Given the description of an element on the screen output the (x, y) to click on. 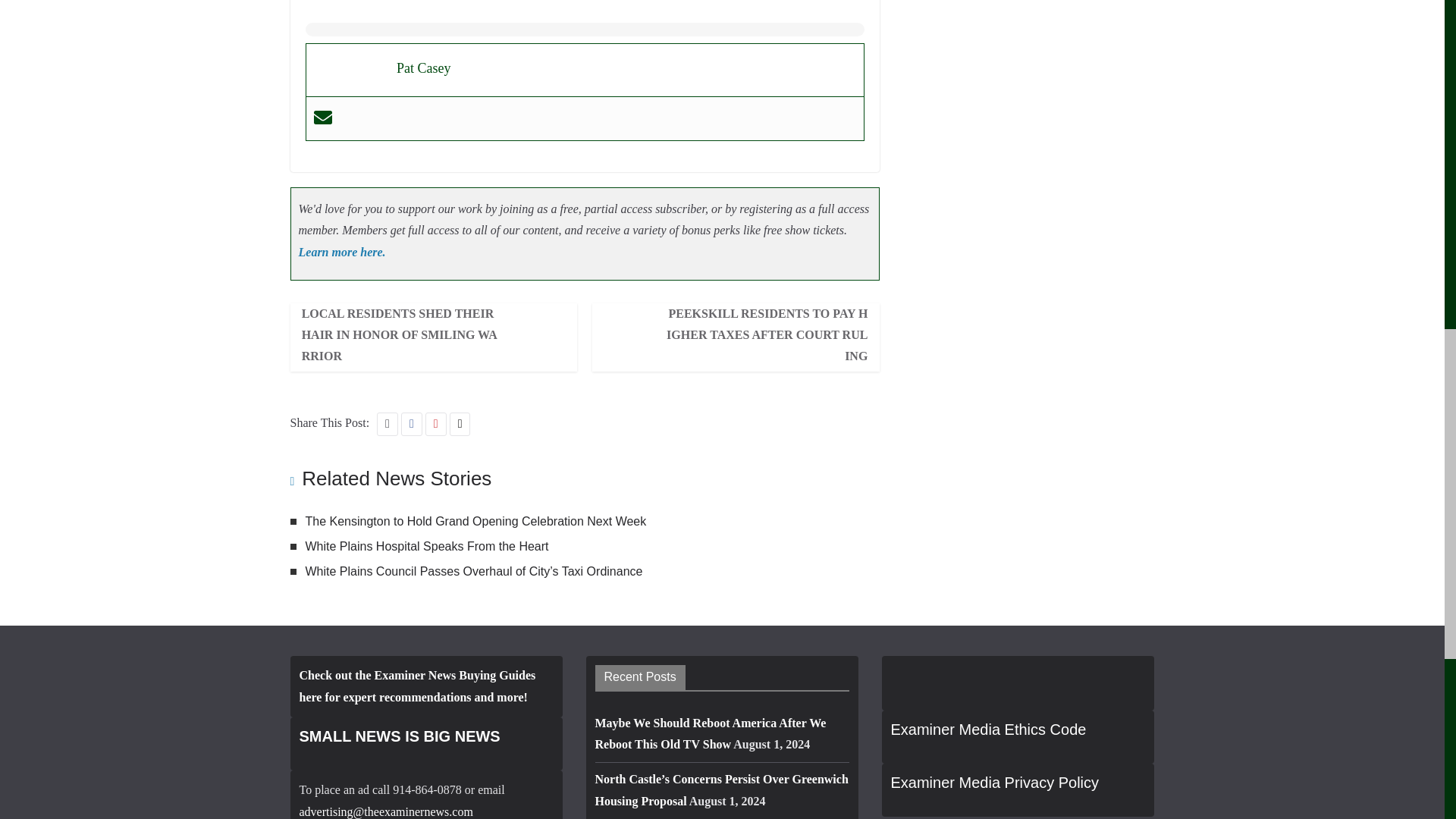
White Plains Hospital Speaks From the Heart (426, 545)
The Kensington to Hold Grand Opening Celebration Next Week (475, 521)
